Given the description of an element on the screen output the (x, y) to click on. 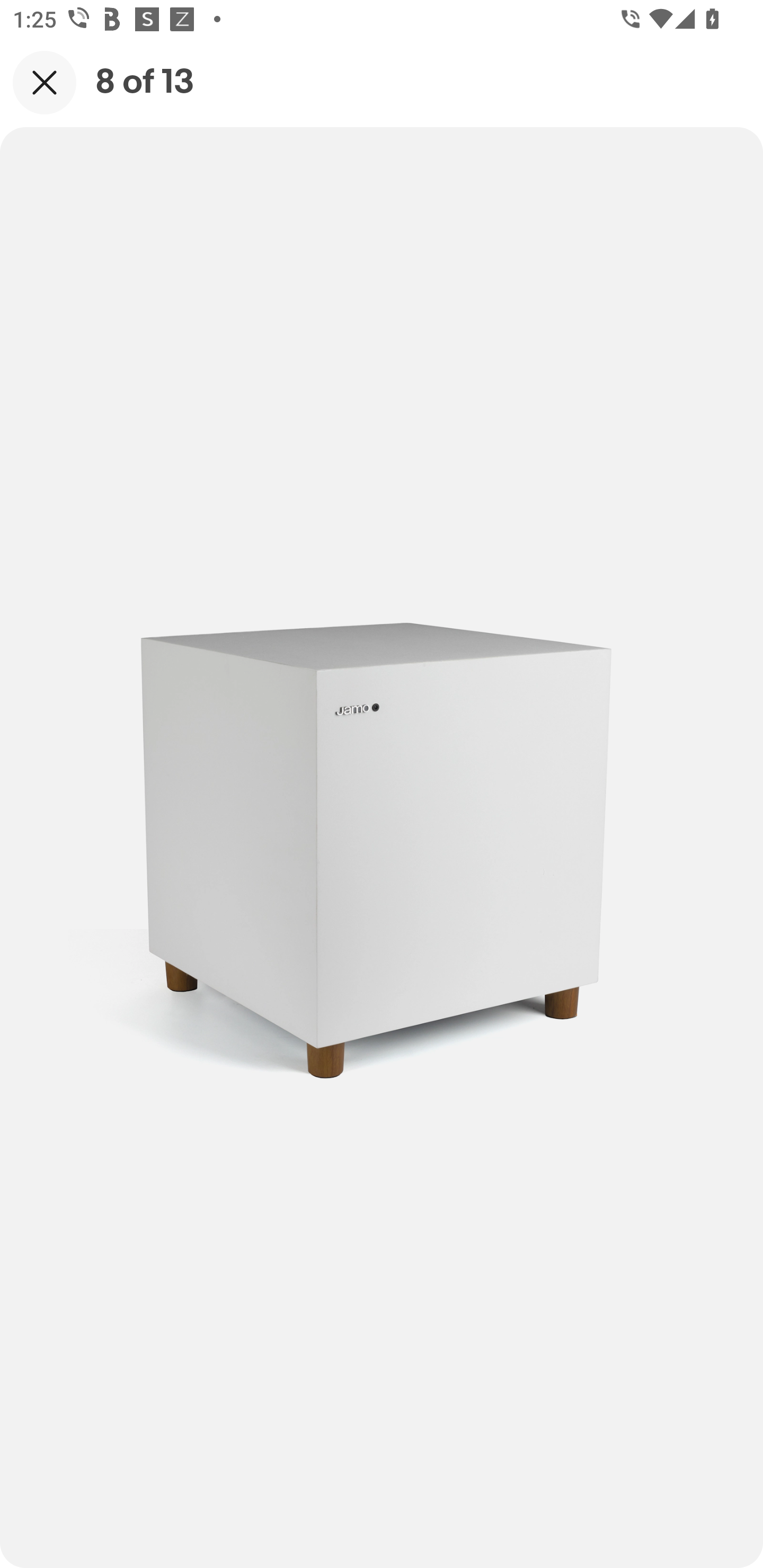
Close (44, 82)
